Given the description of an element on the screen output the (x, y) to click on. 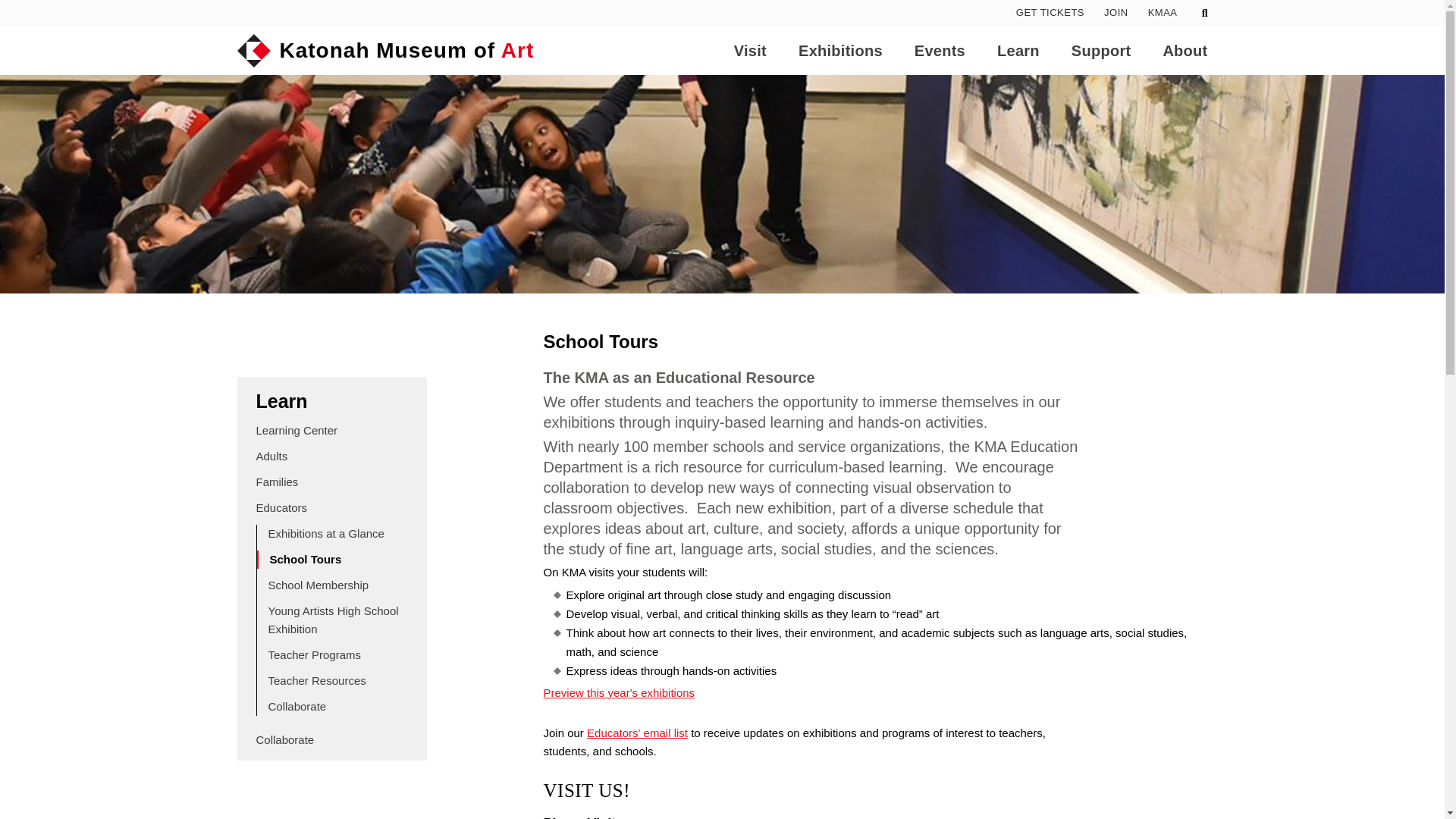
About (1184, 50)
Support (1101, 50)
Events (939, 50)
GET TICKETS (1050, 12)
Exhibitions (839, 50)
Learn (1018, 50)
Visit (750, 50)
JOIN (1115, 12)
KMAA (1162, 12)
Katonah Museum of Art (384, 50)
